Given the description of an element on the screen output the (x, y) to click on. 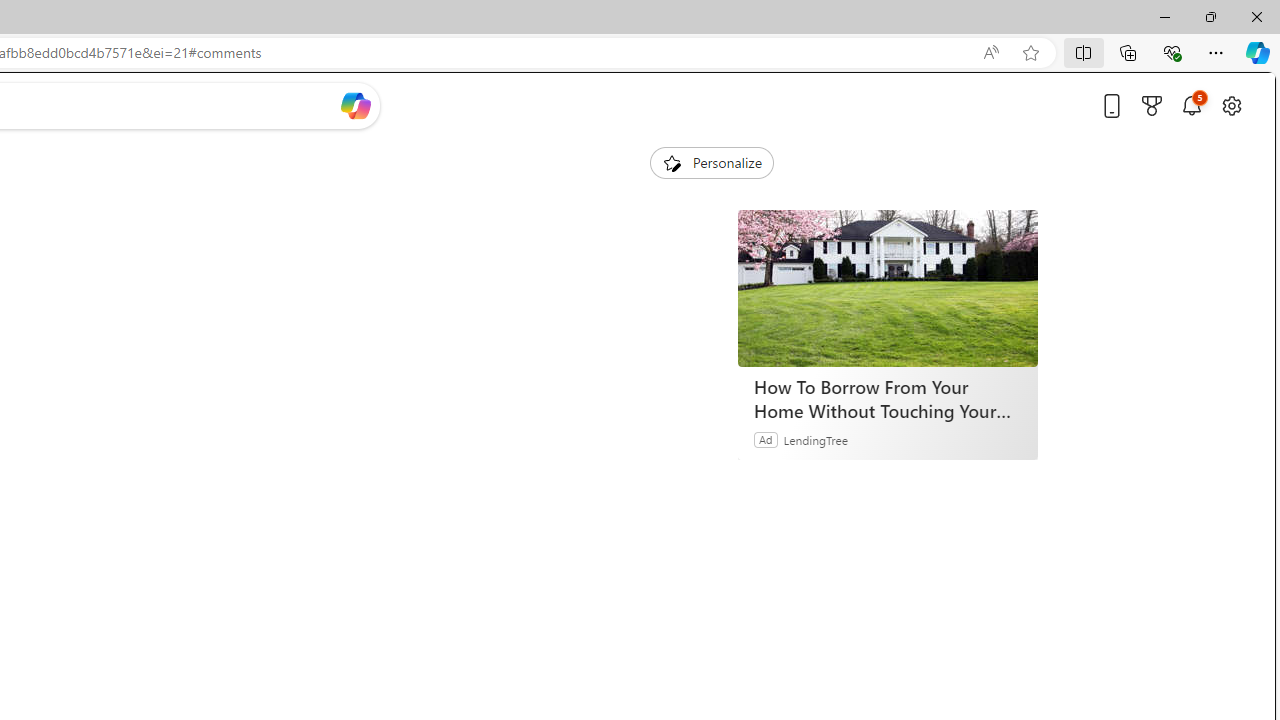
How To Borrow From Your Home Without Touching Your Mortgage (887, 399)
LendingTree (815, 439)
